Given the description of an element on the screen output the (x, y) to click on. 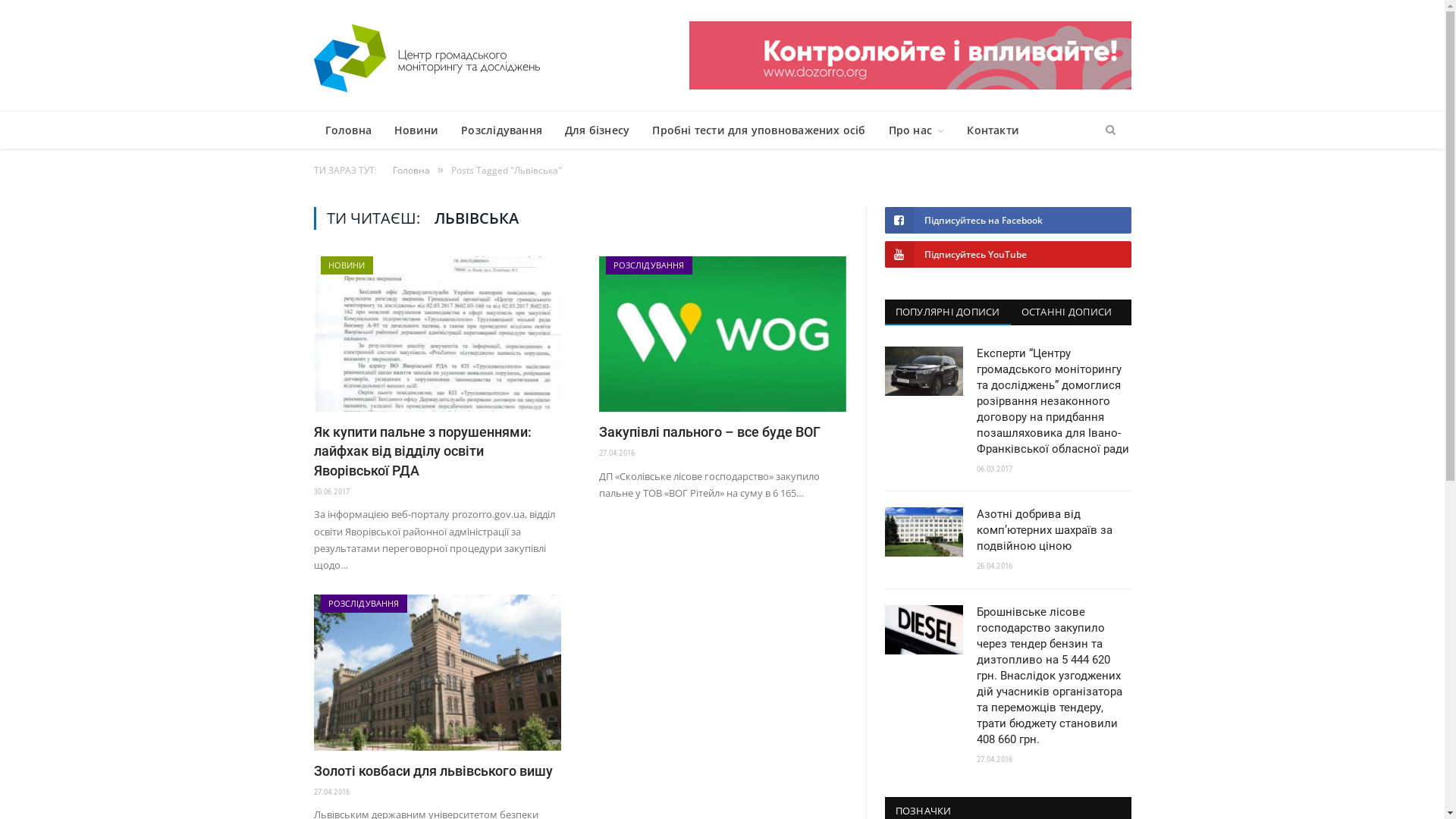
Search Element type: hover (1109, 130)
